Given the description of an element on the screen output the (x, y) to click on. 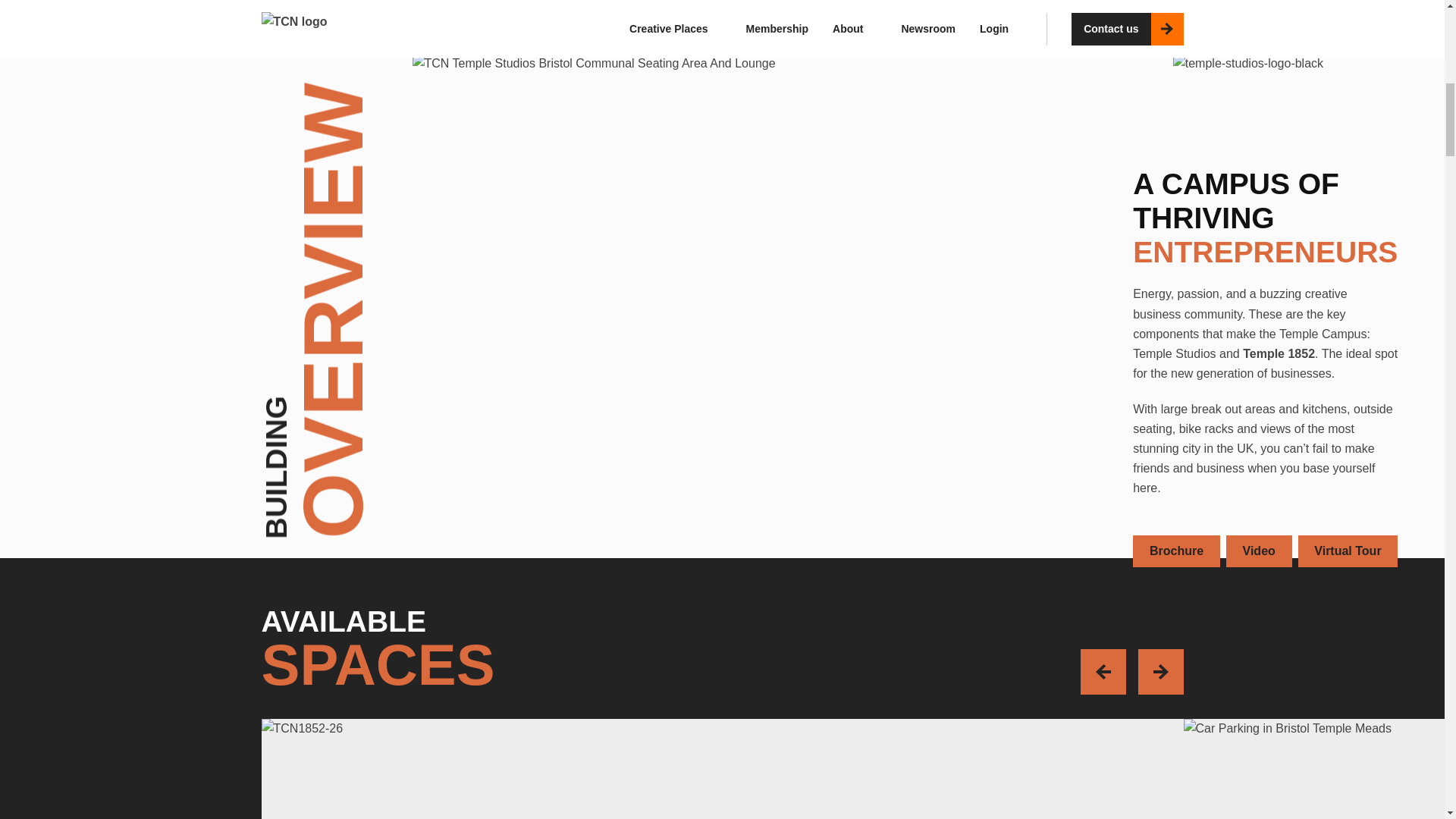
Clubspace (1077, 2)
Overview (916, 2)
Virtual Tour (1347, 551)
Contact (1149, 2)
Brochure (1176, 551)
Video (1258, 551)
Temple 1852 (1278, 353)
ENQUIRE (298, 2)
Availability (993, 2)
BOOK A TOUR (387, 2)
